Given the description of an element on the screen output the (x, y) to click on. 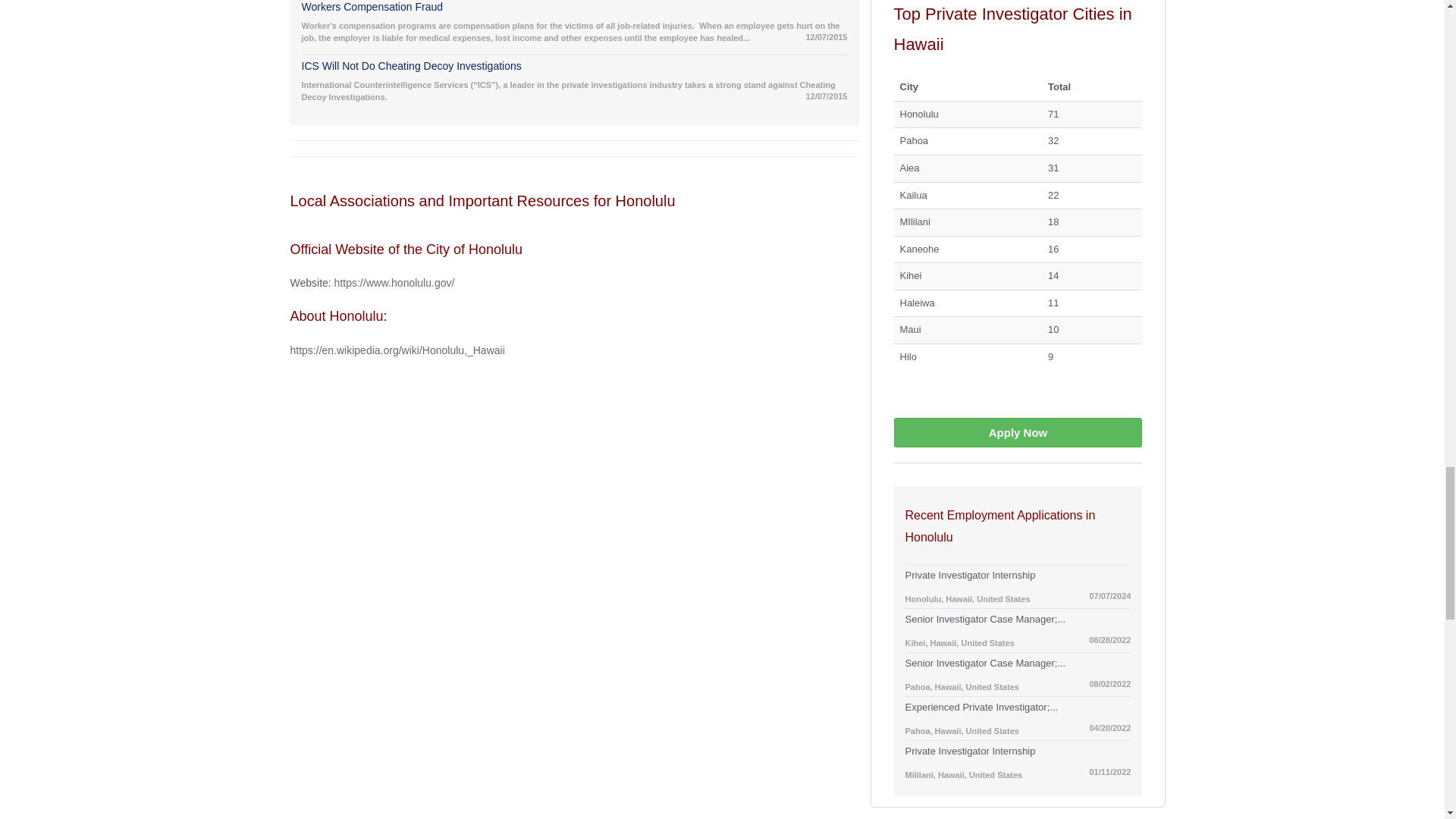
Workers Compensation Fraud (574, 9)
ICS Will Not Do Cheating Decoy Investigations (574, 66)
